Given the description of an element on the screen output the (x, y) to click on. 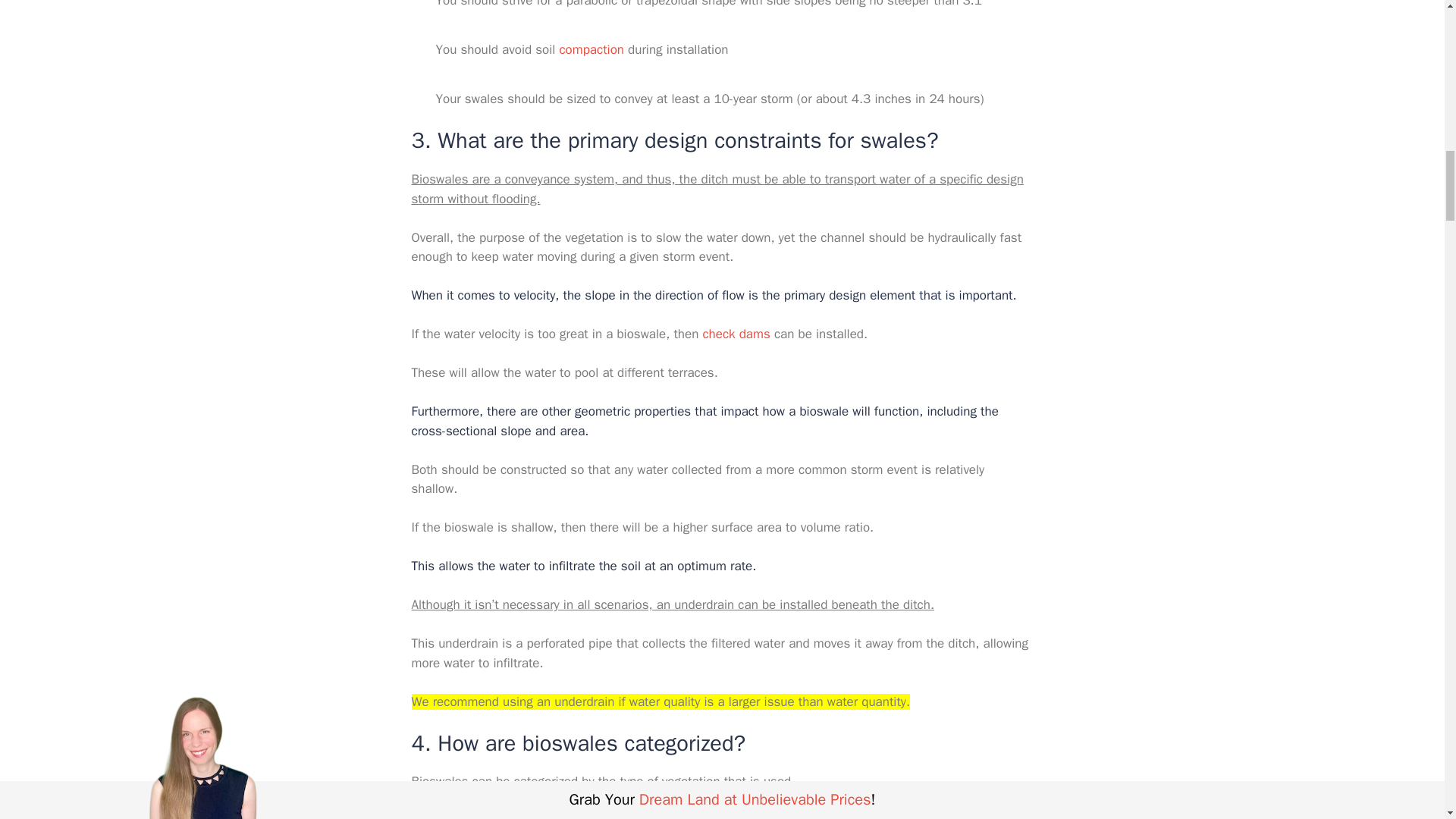
compaction (591, 49)
check dams (735, 333)
